Given the description of an element on the screen output the (x, y) to click on. 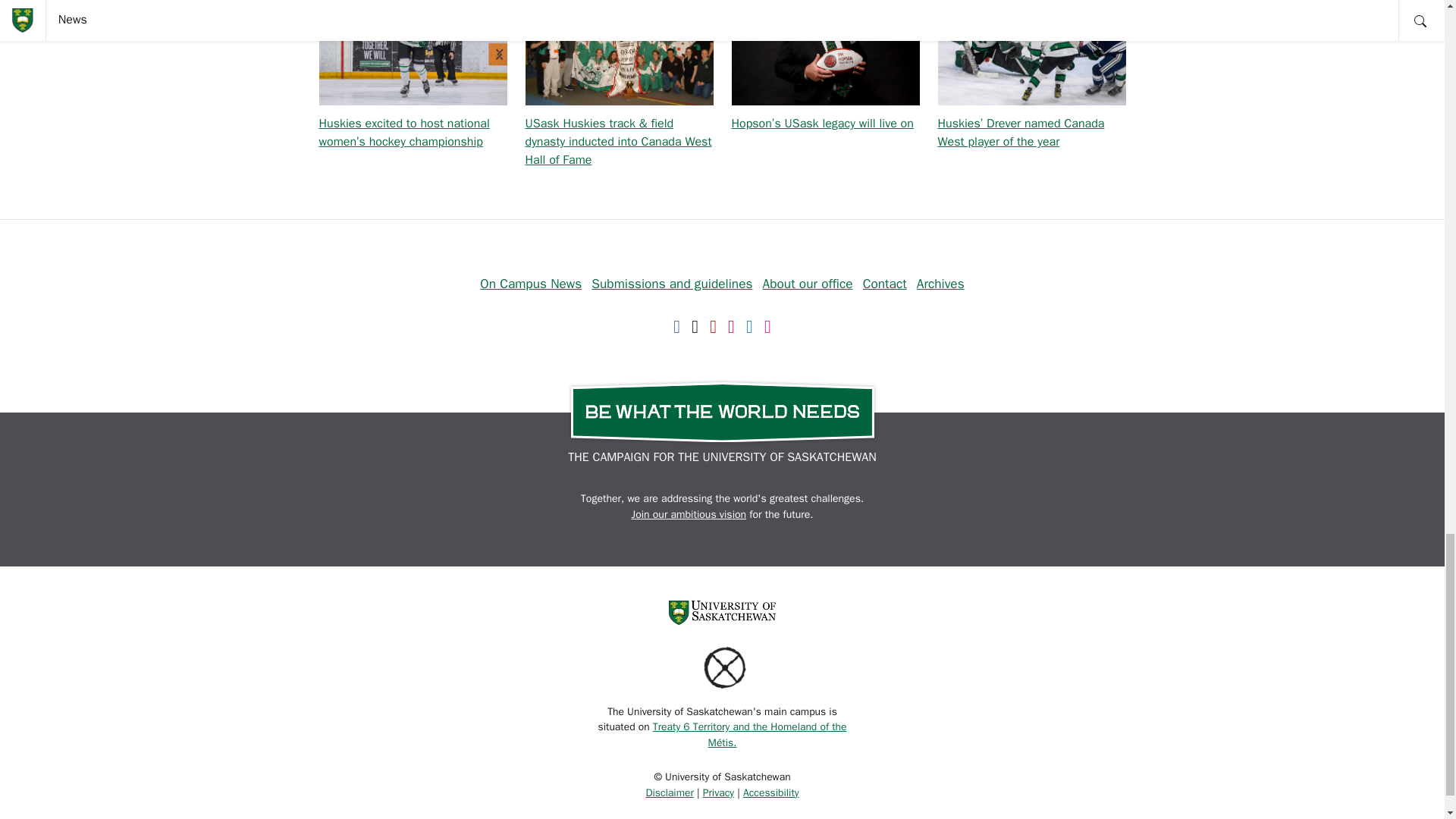
Disclaimer (669, 792)
On Campus News (530, 283)
Submissions and guidelines (671, 283)
Join our ambitious vision (688, 513)
Contact (885, 283)
Privacy (718, 792)
Accessibility (770, 792)
About our office (807, 283)
Archives (940, 283)
